Given the description of an element on the screen output the (x, y) to click on. 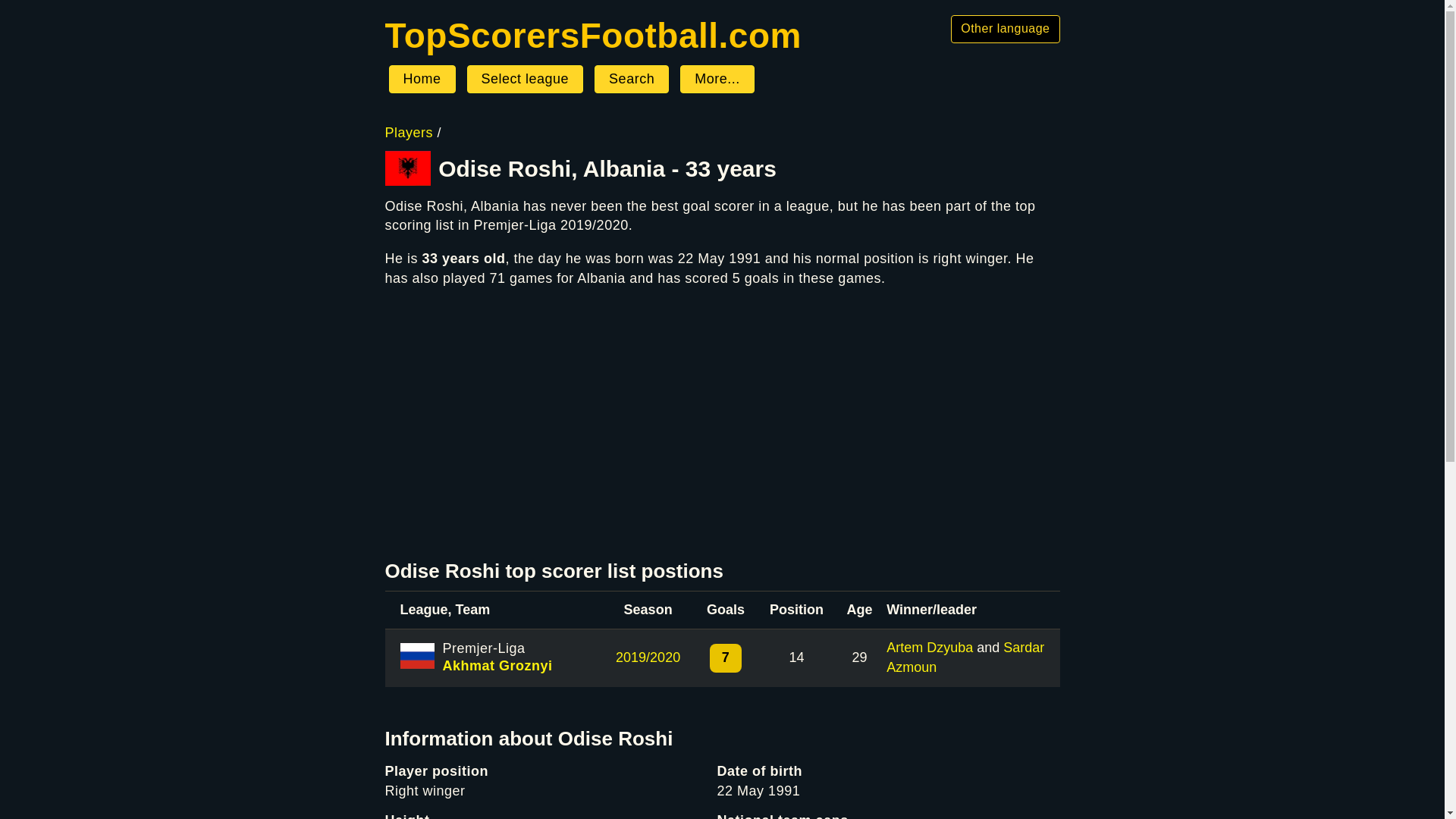
Other language (1004, 29)
Home (421, 79)
Other language (1004, 29)
Home (421, 79)
Select league (525, 79)
More... (716, 79)
Home (593, 35)
TopScorersFootball.com (593, 35)
Search (631, 79)
